Given the description of an element on the screen output the (x, y) to click on. 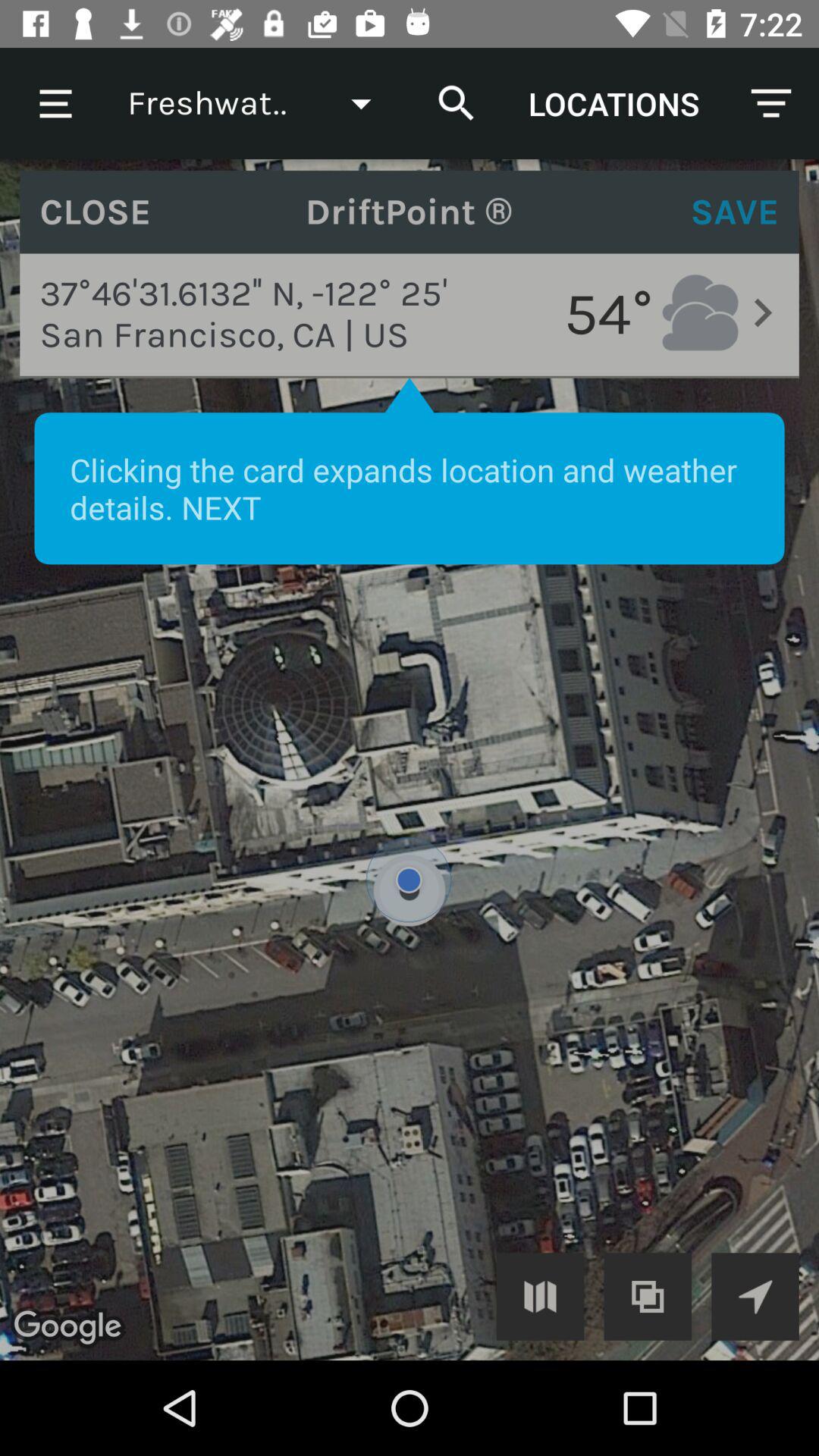
press the page (409, 759)
